Given the description of an element on the screen output the (x, y) to click on. 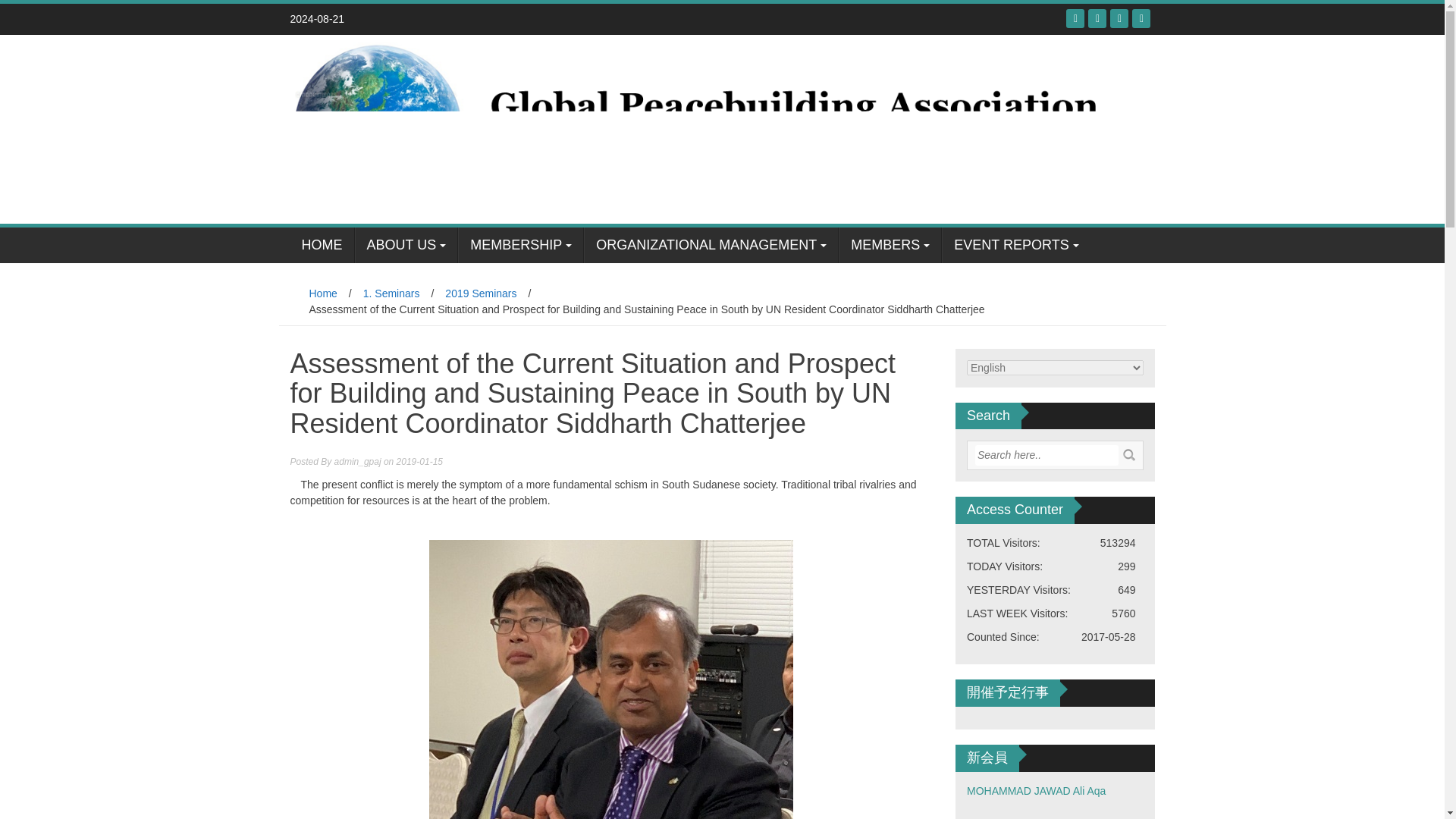
Global Peacebuilding Association of Japan (715, 128)
Email (1141, 18)
Twitter (1096, 18)
MEMBERSHIP (520, 244)
RSS (1118, 18)
EVENT REPORTS (1015, 244)
Search here.. (1046, 455)
HOME (321, 244)
2019 Seminars (480, 293)
MEMBERS (889, 244)
